Given the description of an element on the screen output the (x, y) to click on. 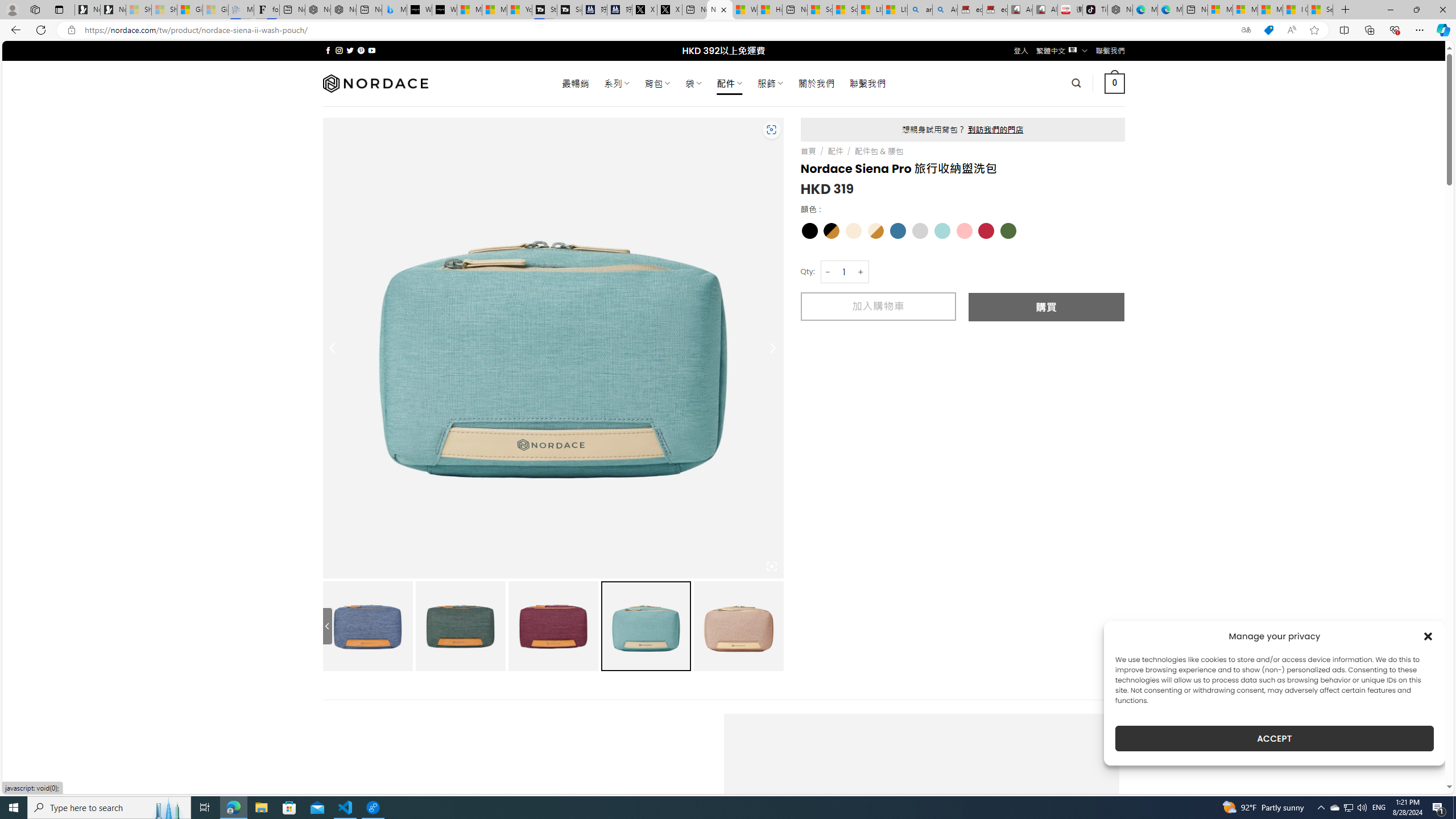
Nordace - Best Sellers (1119, 9)
Refresh (40, 29)
Copilot (Ctrl+Shift+.) (1442, 29)
